Given the description of an element on the screen output the (x, y) to click on. 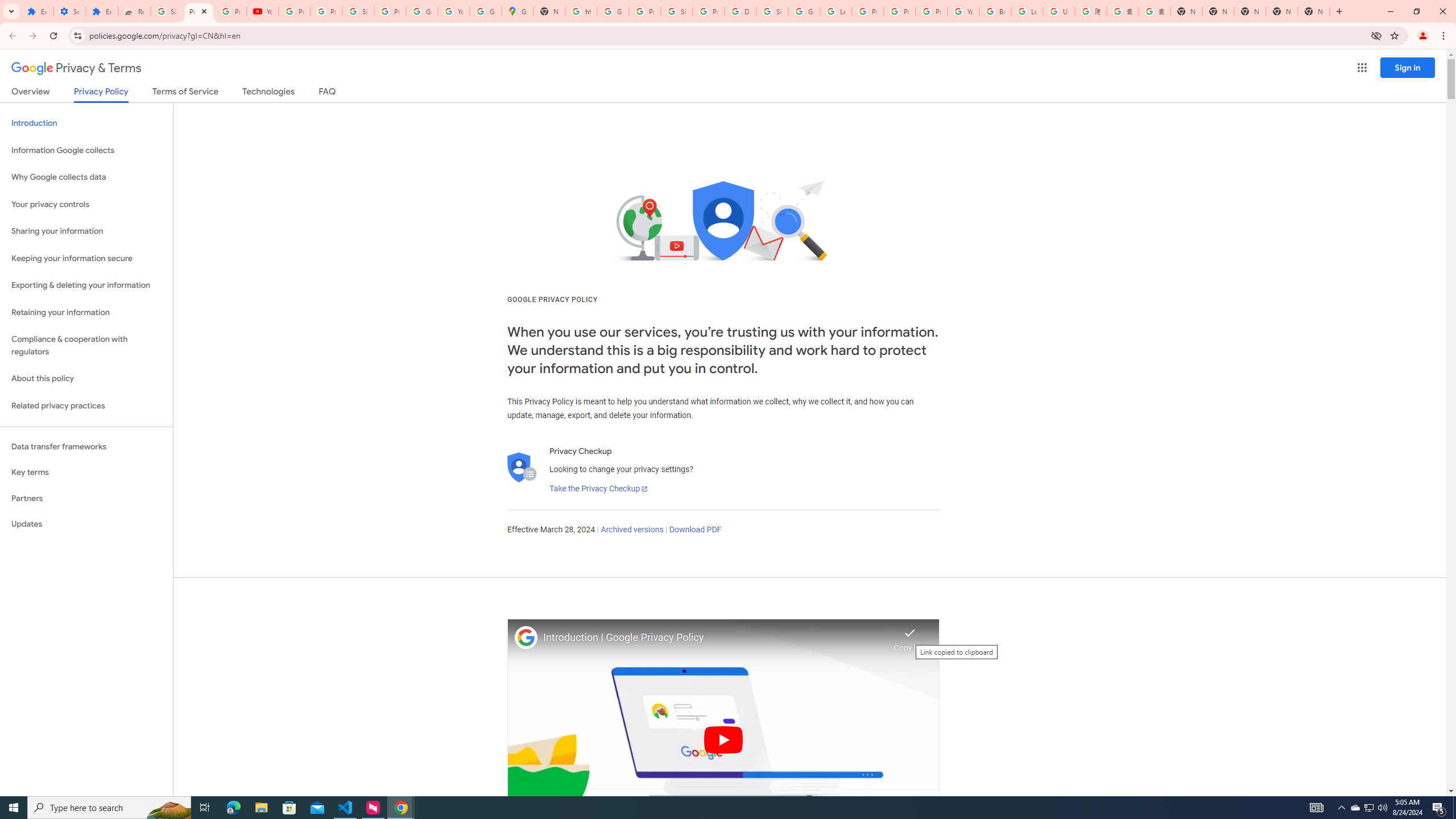
New Tab (1185, 11)
New Tab (1313, 11)
Sharing your information (86, 230)
https://scholar.google.com/ (581, 11)
Introduction | Google Privacy Policy (715, 637)
About this policy (86, 379)
